Given the description of an element on the screen output the (x, y) to click on. 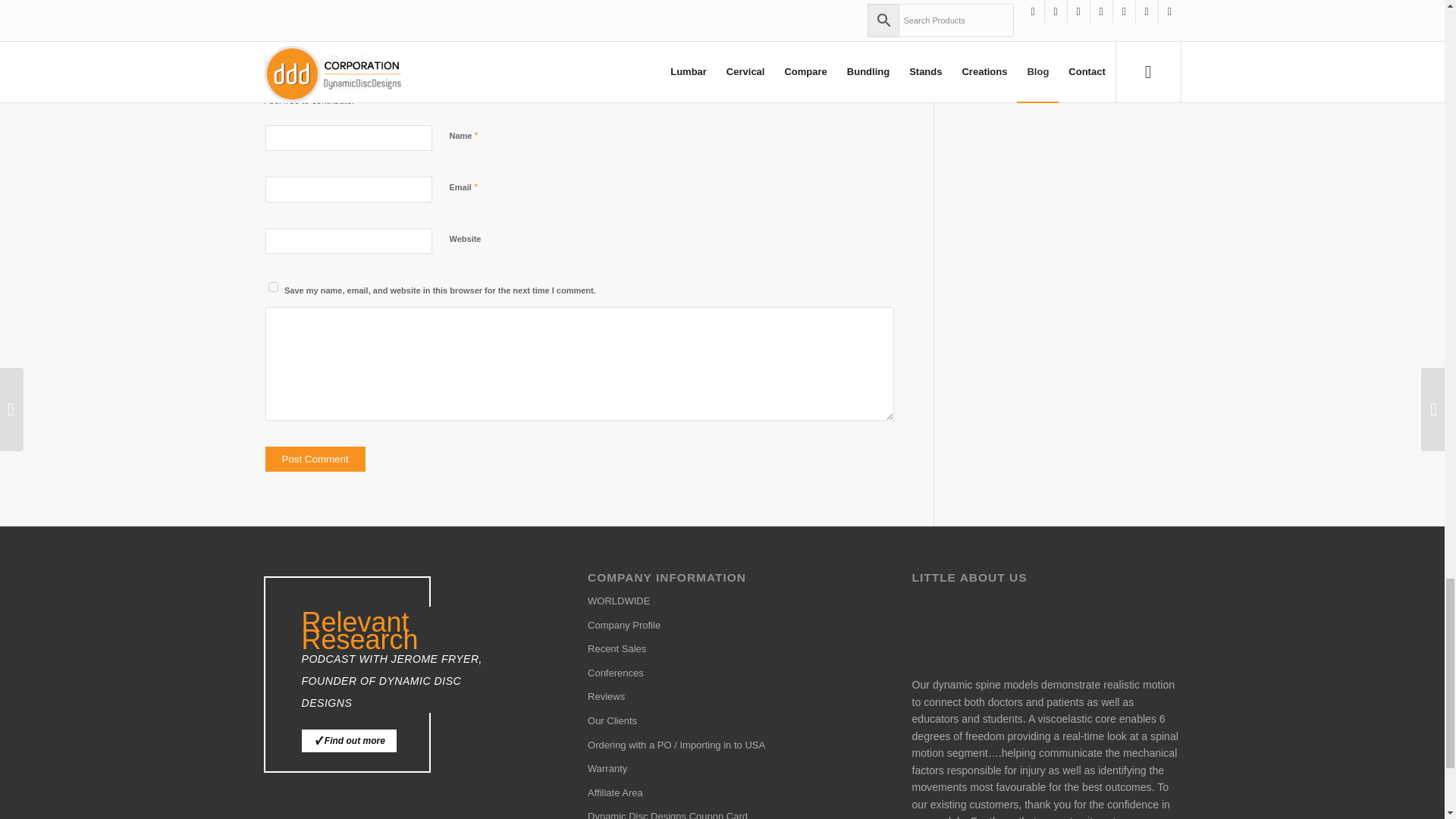
Post Comment (314, 458)
yes (272, 286)
